Given the description of an element on the screen output the (x, y) to click on. 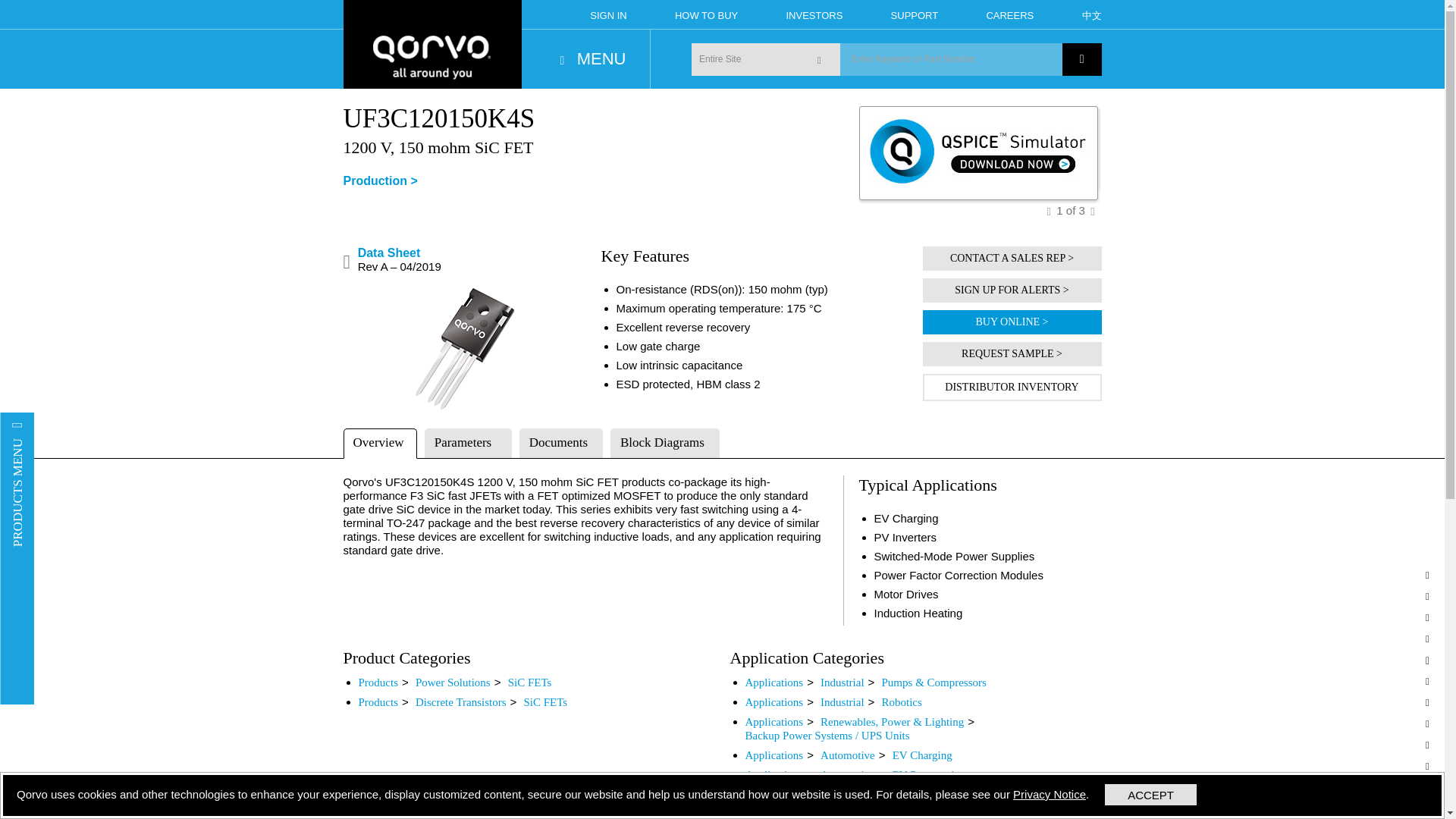
SIGN IN (607, 14)
ALL AROUND YOU (431, 58)
Support (915, 14)
SUPPORT (915, 14)
HOW TO BUY (706, 14)
QORVO (431, 22)
Investors (814, 14)
MENU (593, 58)
Careers (1009, 14)
Sign In (607, 14)
How To Buy (706, 14)
INVESTORS (814, 14)
CAREERS (1009, 14)
